Given the description of an element on the screen output the (x, y) to click on. 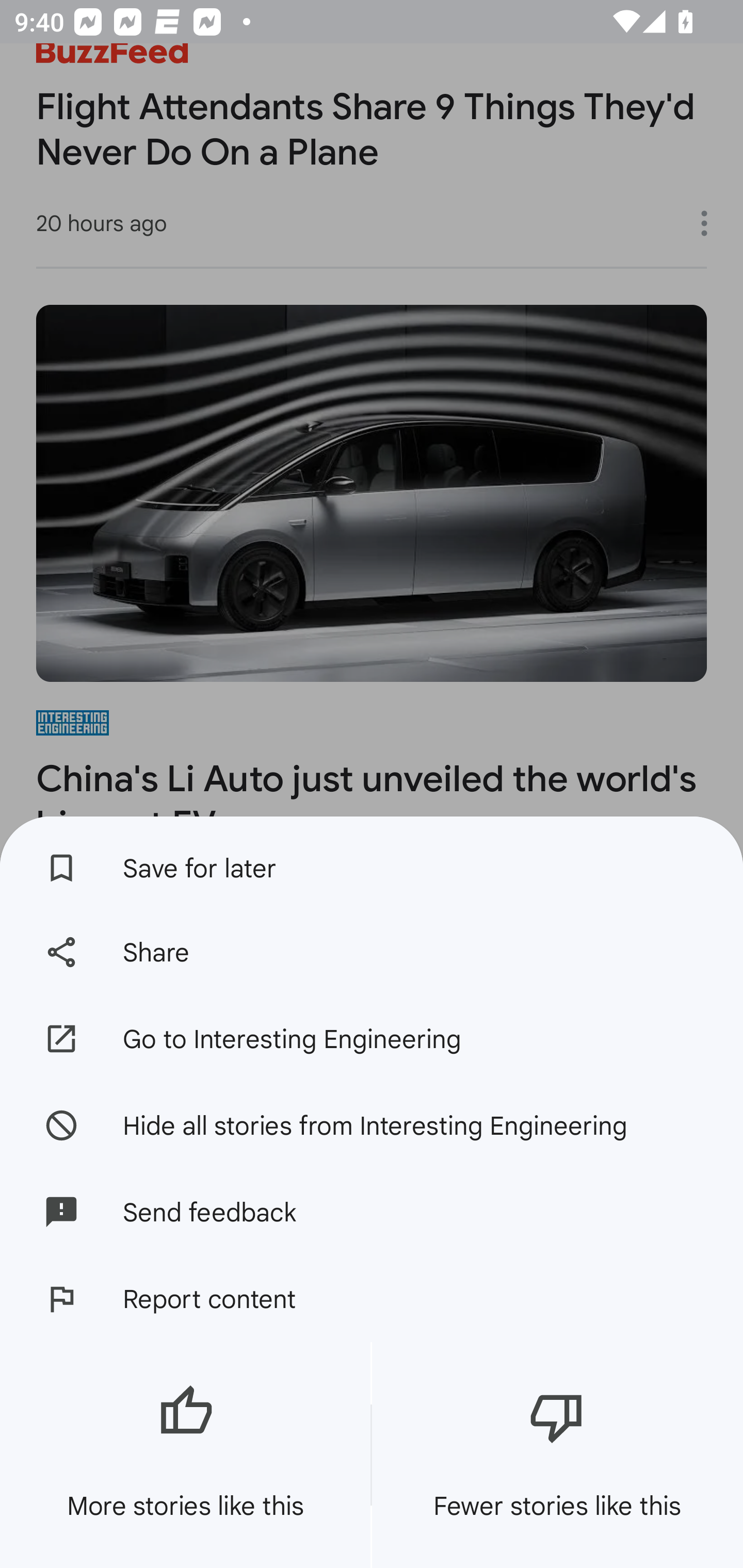
Save for later (371, 862)
Share (371, 952)
Go to Interesting Engineering (371, 1038)
Hide all stories from Interesting Engineering (371, 1124)
Send feedback (371, 1211)
Report content (371, 1298)
More stories like this (185, 1455)
Fewer stories like this (557, 1455)
